Given the description of an element on the screen output the (x, y) to click on. 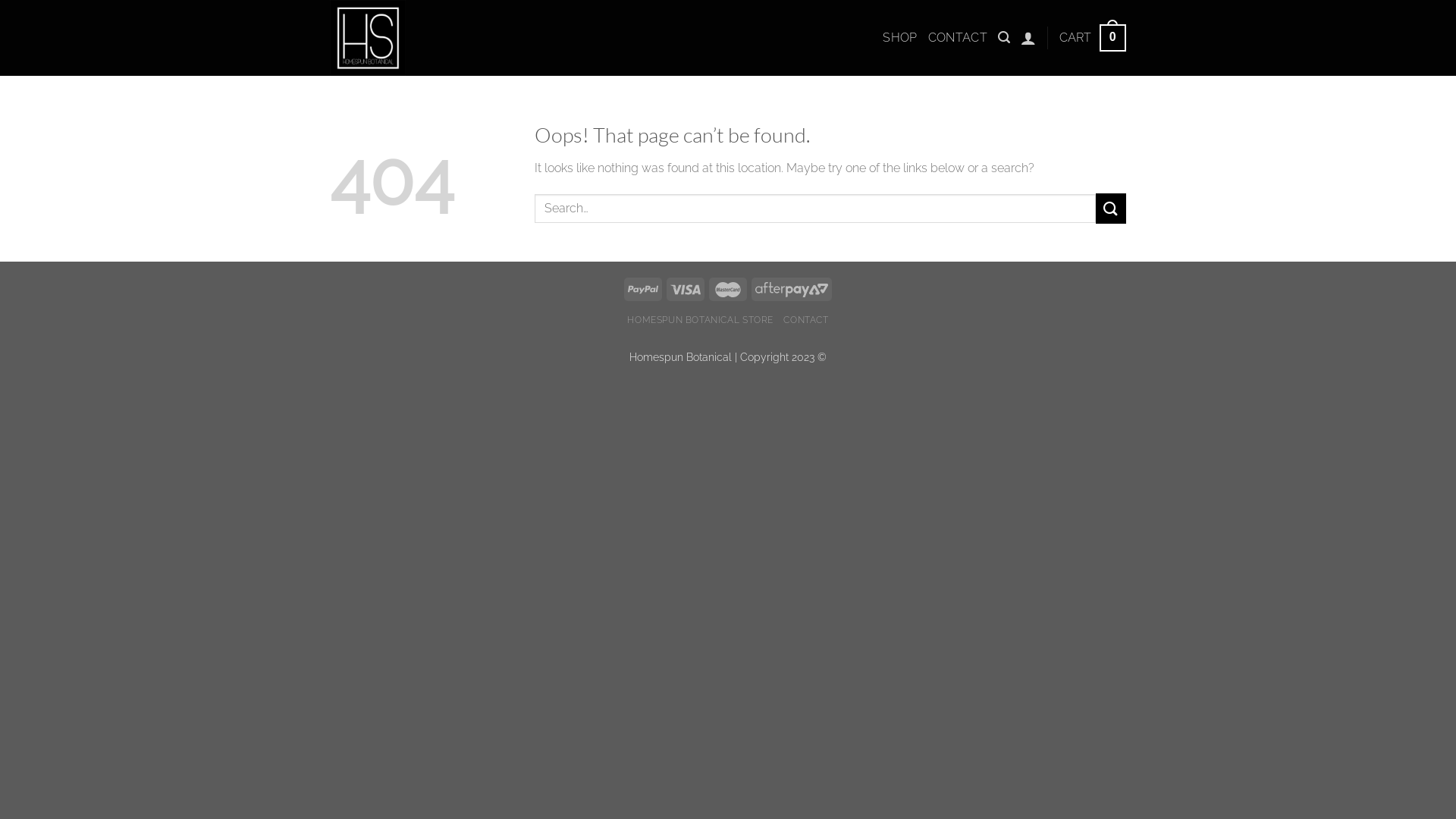
CONTACT Element type: text (805, 319)
SHOP Element type: text (899, 37)
HOMESPUN BOTANICAL STORE Element type: text (700, 319)
CONTACT Element type: text (957, 37)
CART
0 Element type: text (1092, 37)
